Given the description of an element on the screen output the (x, y) to click on. 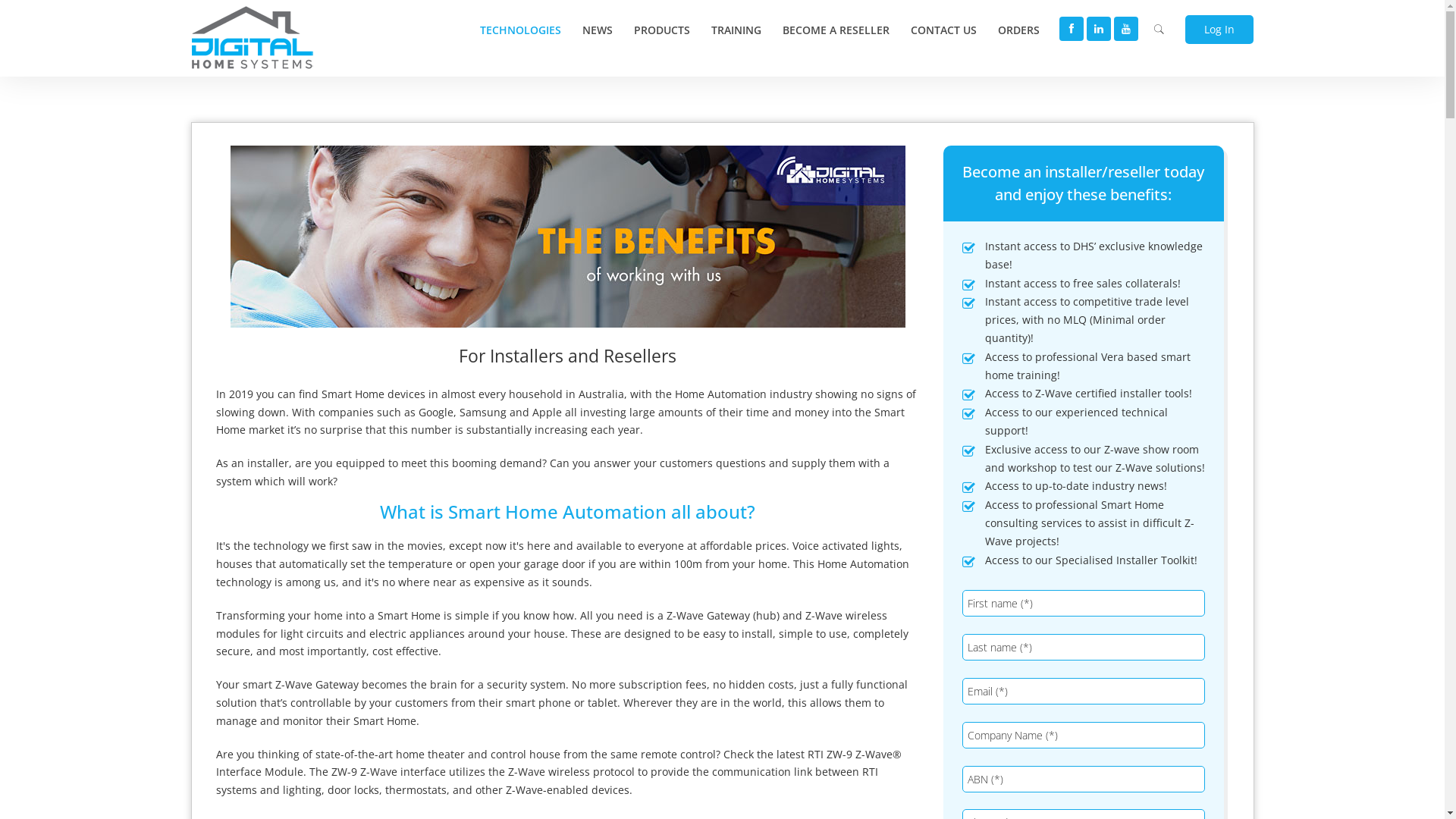
TECHNOLOGIES Element type: text (519, 29)
TECHNOLOGIES Element type: text (519, 29)
CONTACT US Element type: text (942, 29)
ORDERS Element type: text (1018, 29)
CONTACT US Element type: text (942, 29)
TRAINING Element type: text (736, 29)
BECOME A RESELLER Element type: text (835, 29)
TRAINING Element type: text (736, 29)
NEWS Element type: text (597, 29)
PRODUCTS Element type: text (661, 29)
